Given the description of an element on the screen output the (x, y) to click on. 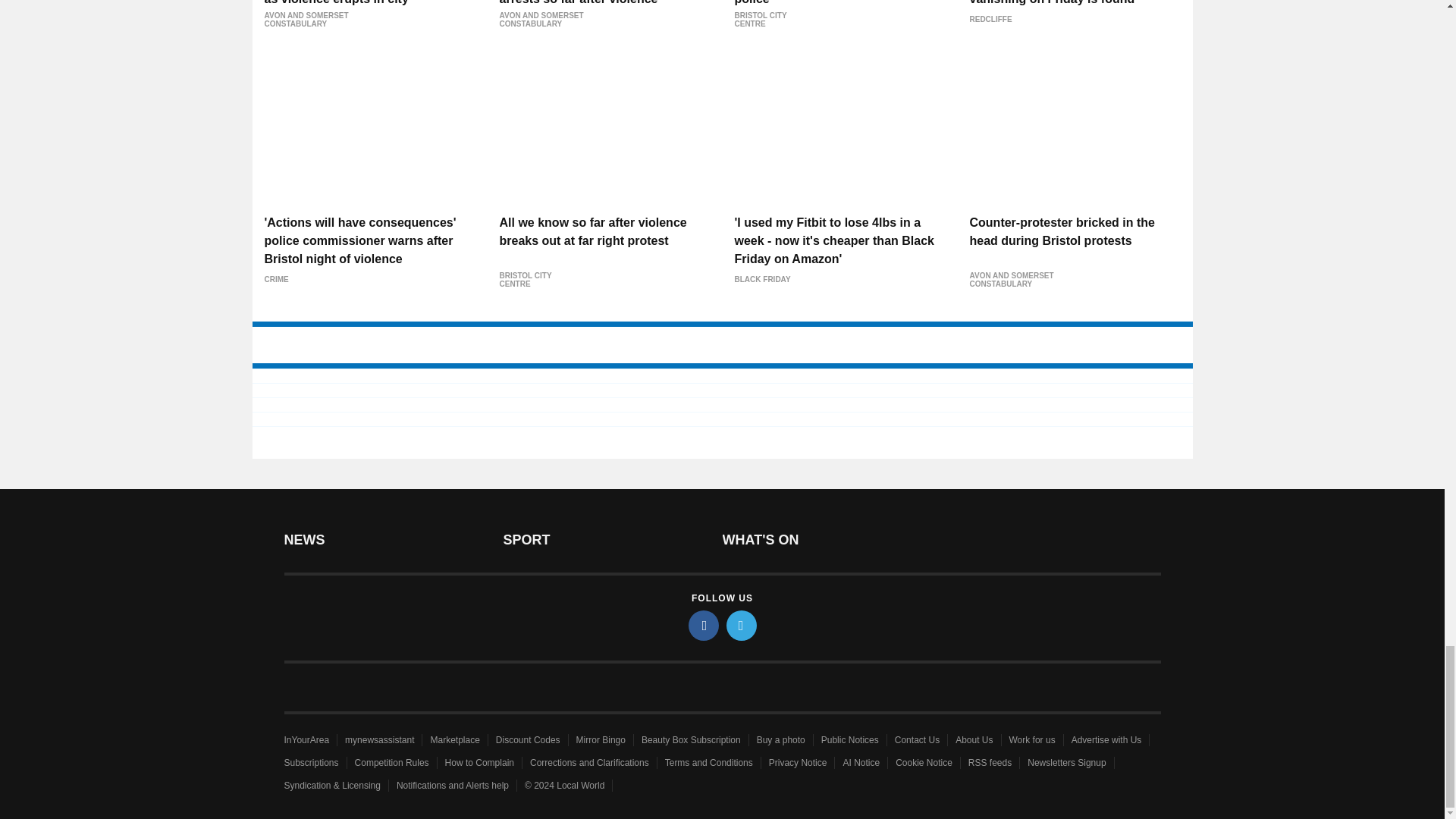
facebook (703, 625)
twitter (741, 625)
